Given the description of an element on the screen output the (x, y) to click on. 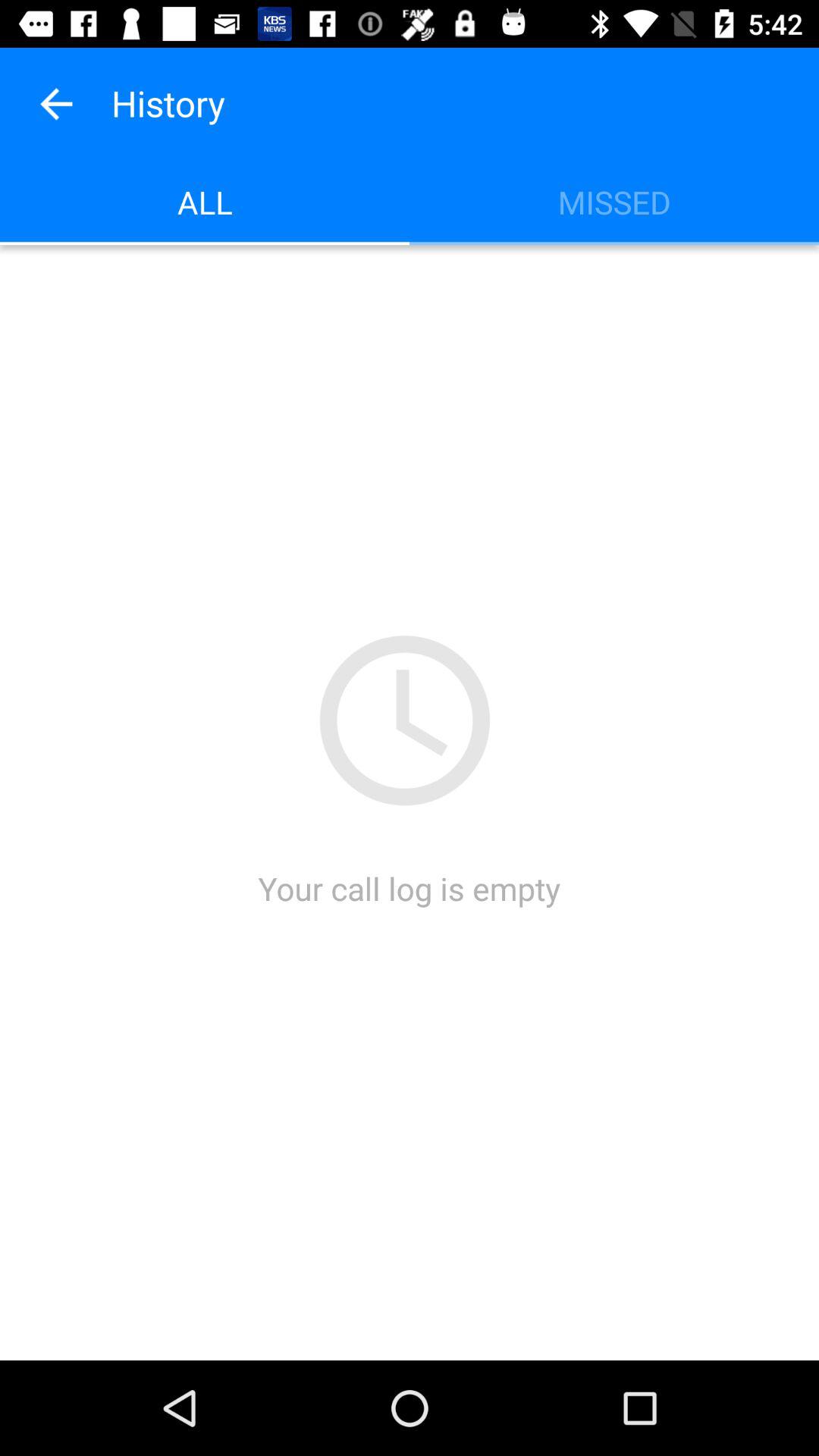
launch icon to the left of the history icon (55, 103)
